Given the description of an element on the screen output the (x, y) to click on. 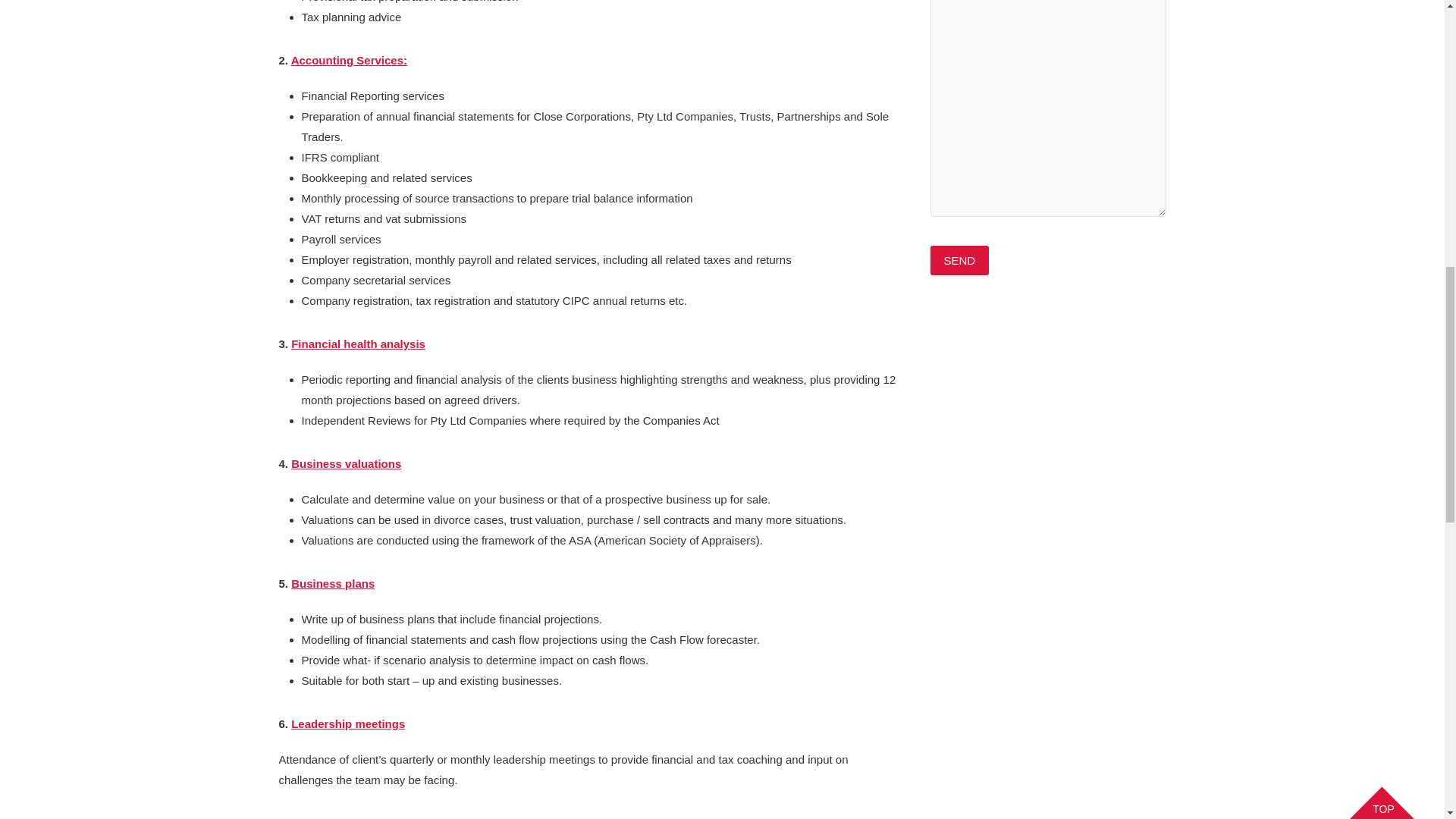
Accounting Services: (349, 60)
Send (959, 260)
Business plans (332, 583)
Leadership meetings (347, 723)
Send (959, 260)
Business valuations (346, 463)
Financial health analysis (358, 343)
